Given the description of an element on the screen output the (x, y) to click on. 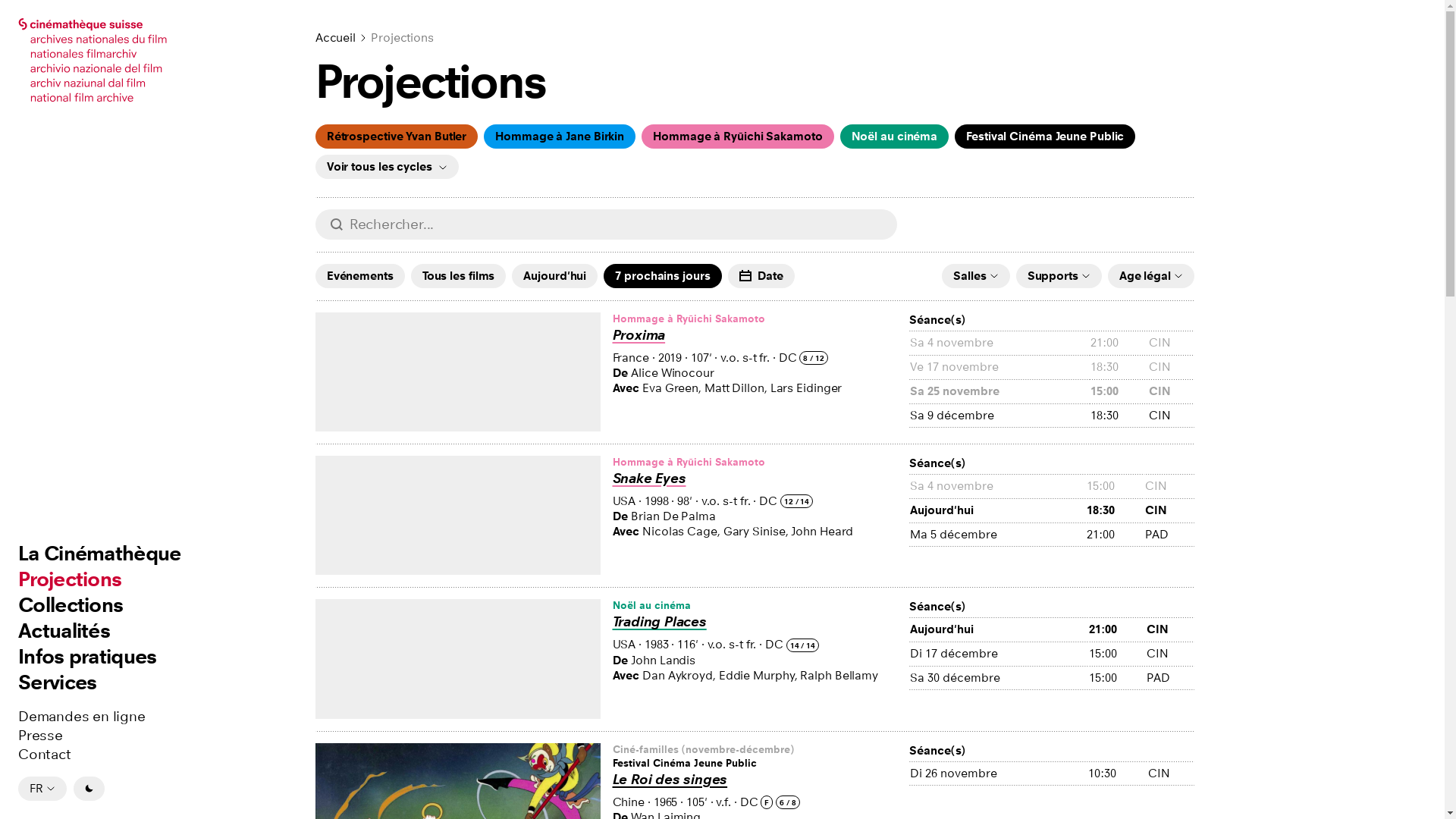
Snake Eyes Element type: text (649, 478)
Services Element type: text (57, 682)
15:00 Element type: text (1116, 677)
CIN Element type: text (1170, 415)
18:30 Element type: text (1118, 415)
Voir tous les cycles Element type: text (386, 166)
Trading Places Element type: text (659, 621)
Proxima Element type: text (638, 334)
7 prochains jours Element type: text (662, 275)
Le Roi des singes Element type: text (670, 779)
Presse Element type: text (40, 735)
Di 26 novembre Element type: text (998, 773)
21:00 Element type: text (1115, 534)
15:00 Element type: text (1116, 653)
Demandes en ligne Element type: text (81, 716)
CIN Element type: text (1169, 653)
Rechercher Element type: text (321, 224)
Aujourd'hui Element type: text (997, 510)
Supports Element type: text (1058, 275)
Projections Element type: text (69, 578)
Salles Element type: text (975, 275)
PAD Element type: text (1169, 534)
CIN Element type: text (1169, 629)
Aujourd'hui Element type: text (998, 629)
Accueil Element type: text (335, 37)
Aujourd'hui Element type: text (554, 275)
18:30 Element type: text (1115, 510)
CIN Element type: text (1170, 773)
Tous les films Element type: text (458, 275)
Contact Element type: text (44, 754)
CIN Element type: text (1169, 510)
Date Element type: text (761, 275)
Infos pratiques Element type: text (87, 656)
PAD Element type: text (1169, 677)
21:00 Element type: text (1116, 629)
10:30 Element type: text (1116, 773)
Collections Element type: text (70, 605)
FR Element type: text (42, 788)
